Given the description of an element on the screen output the (x, y) to click on. 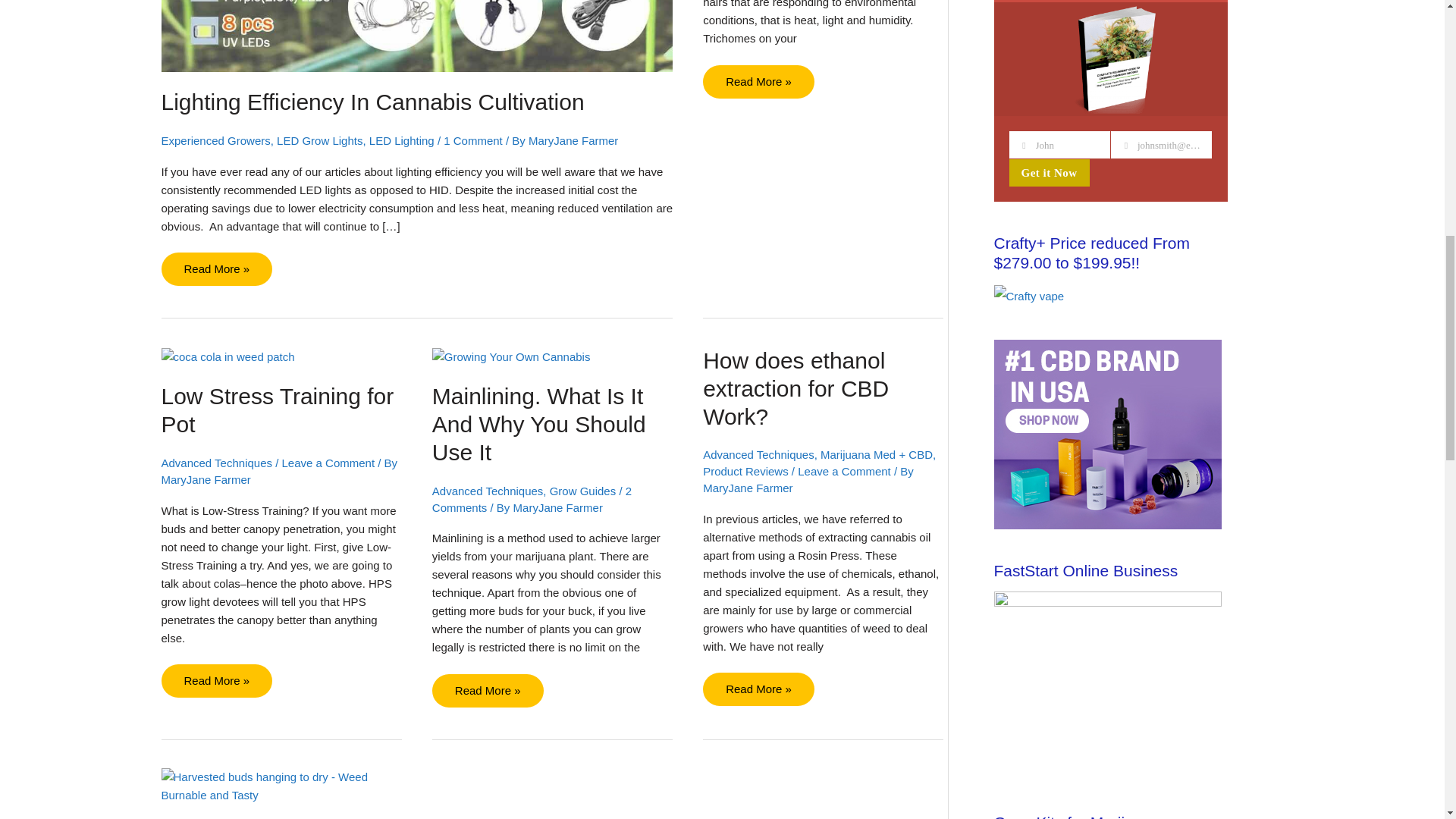
View all posts by MaryJane Farmer (557, 507)
View all posts by MaryJane Farmer (572, 140)
View all posts by MaryJane Farmer (205, 479)
View all posts by MaryJane Farmer (747, 487)
